Given the description of an element on the screen output the (x, y) to click on. 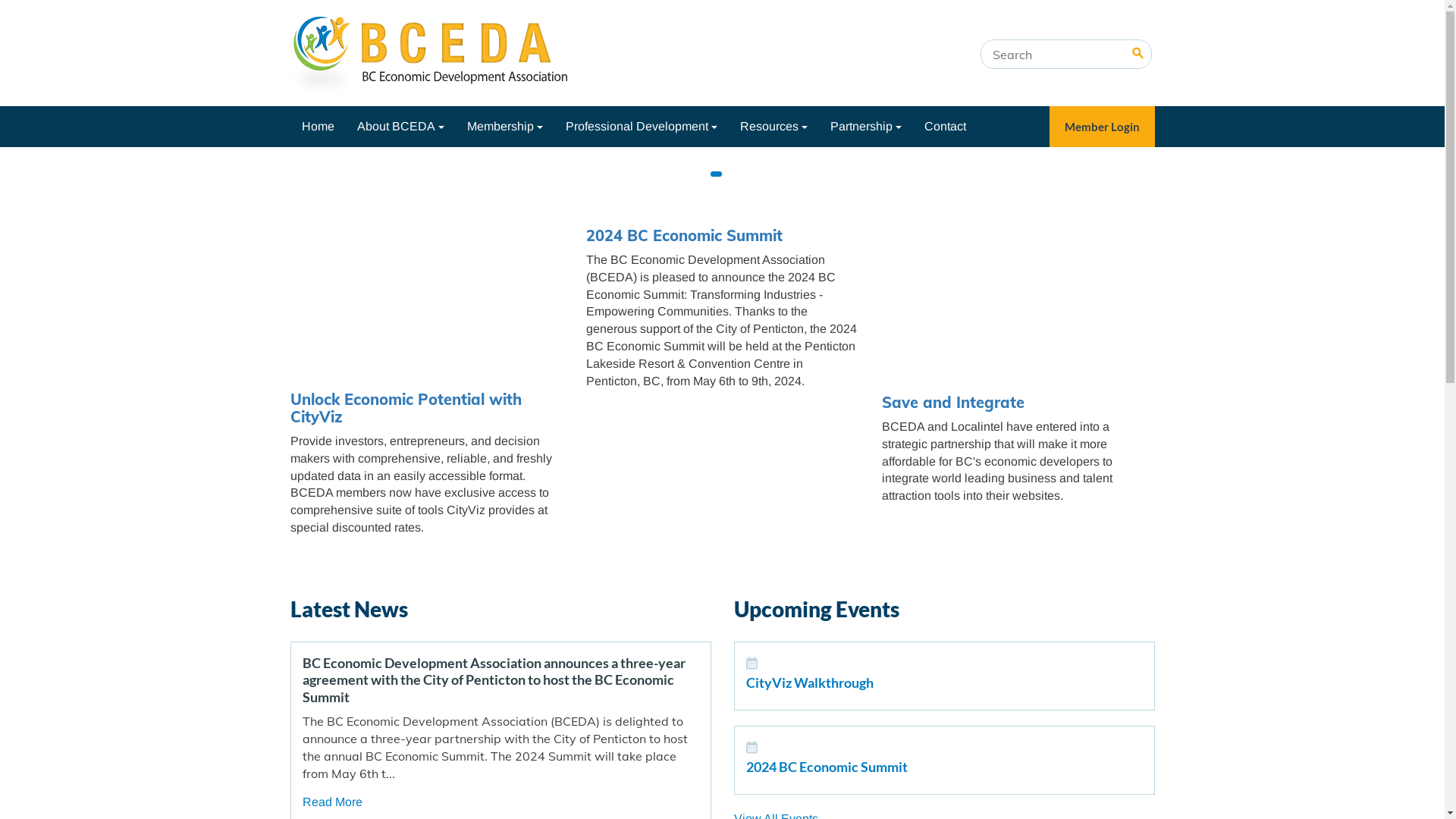
Wildfires Element type: text (324, 167)
Read More Element type: text (331, 801)
Unlock Economic Potential with CityViz Element type: text (404, 407)
About BCEDA Element type: text (400, 126)
Membership Element type: text (504, 126)
CityViz Walkthrough Element type: text (809, 682)
Home Element type: text (317, 126)
Save and Integrate Element type: text (952, 401)
2024 BC Economic Summit Element type: text (826, 766)
Partnership Element type: text (866, 126)
Member Login Element type: text (1101, 126)
Contact Element type: text (945, 126)
Professional Development Element type: text (640, 126)
2024 BC Economic Summit Element type: text (683, 234)
Resources Element type: text (773, 126)
